Given the description of an element on the screen output the (x, y) to click on. 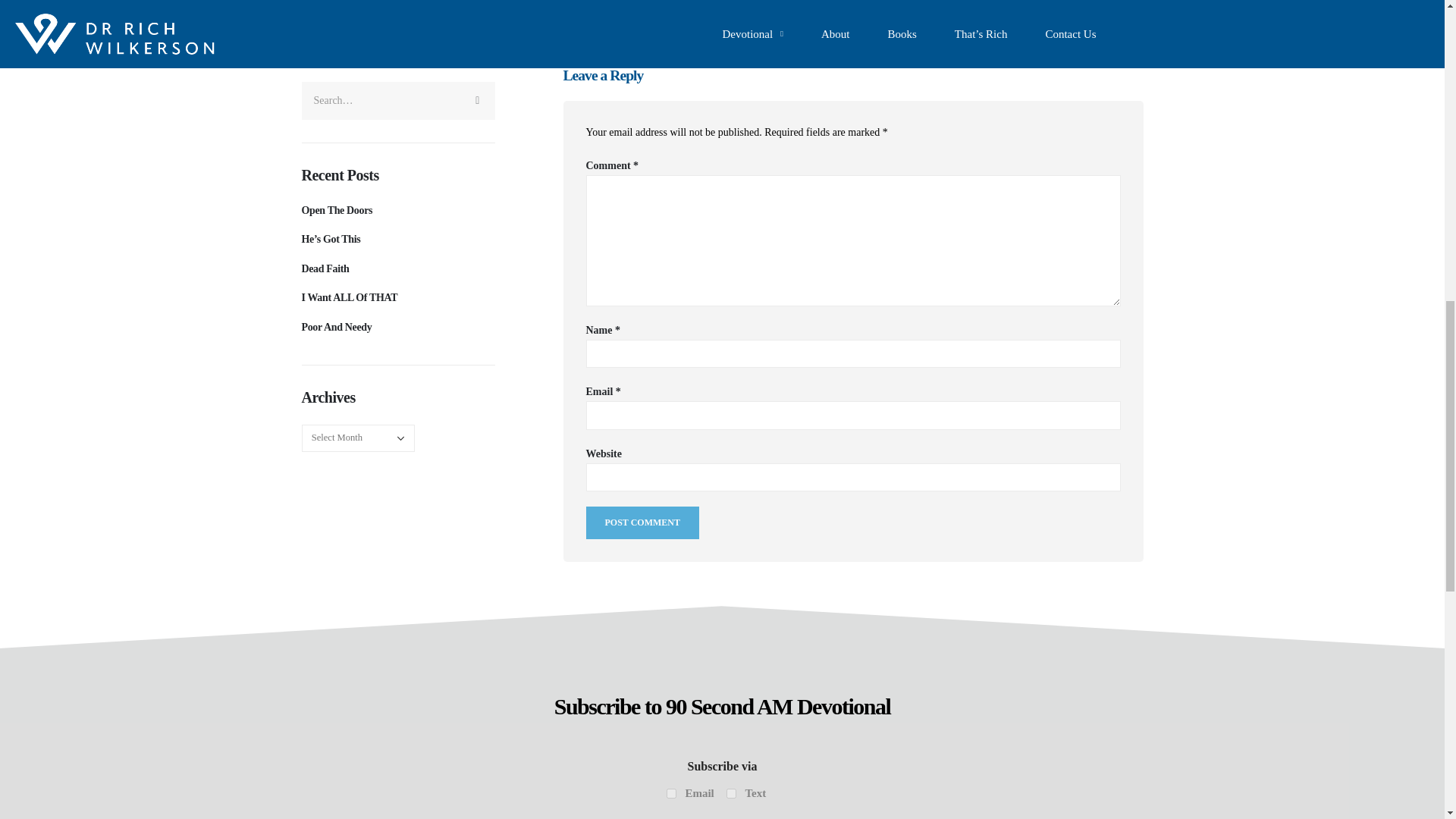
Facebook (573, 15)
Twitter (604, 15)
Text (731, 793)
Post Comment (641, 522)
Email (671, 793)
